Given the description of an element on the screen output the (x, y) to click on. 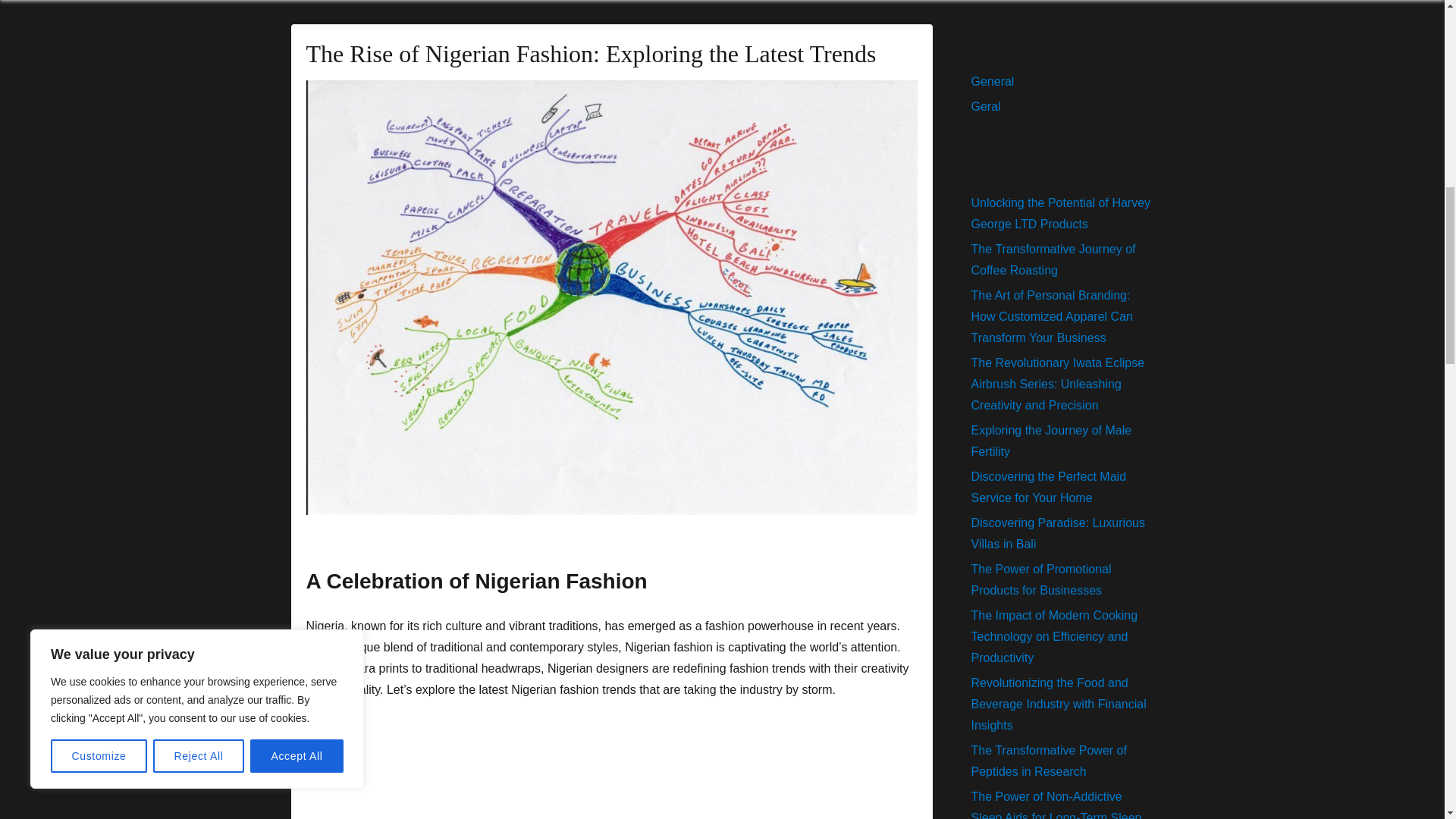
Geral (985, 106)
Unlocking the Potential of Harvey George LTD Products (1060, 213)
General (992, 81)
The Transformative Journey of Coffee Roasting (1053, 259)
